Given the description of an element on the screen output the (x, y) to click on. 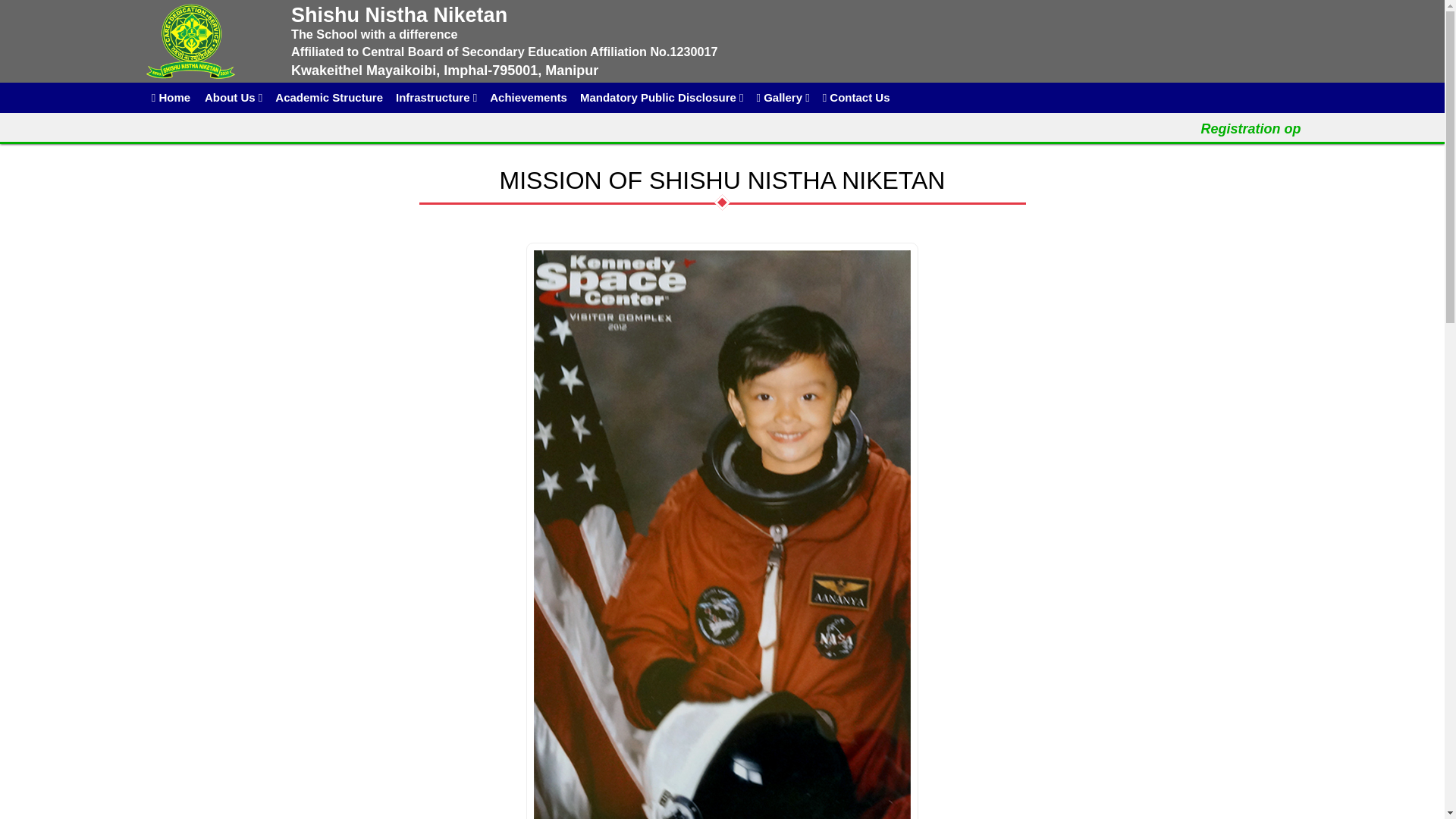
Shishu Nistha Niketan (208, 41)
Achievements (528, 97)
About Us (232, 97)
Mandatory Public Disclosure (661, 97)
Shishu Nistha Niketan (189, 41)
Academic Structure (328, 97)
Infrastructure (436, 97)
Gallery (783, 97)
Contact Us (855, 97)
Home (170, 97)
